Given the description of an element on the screen output the (x, y) to click on. 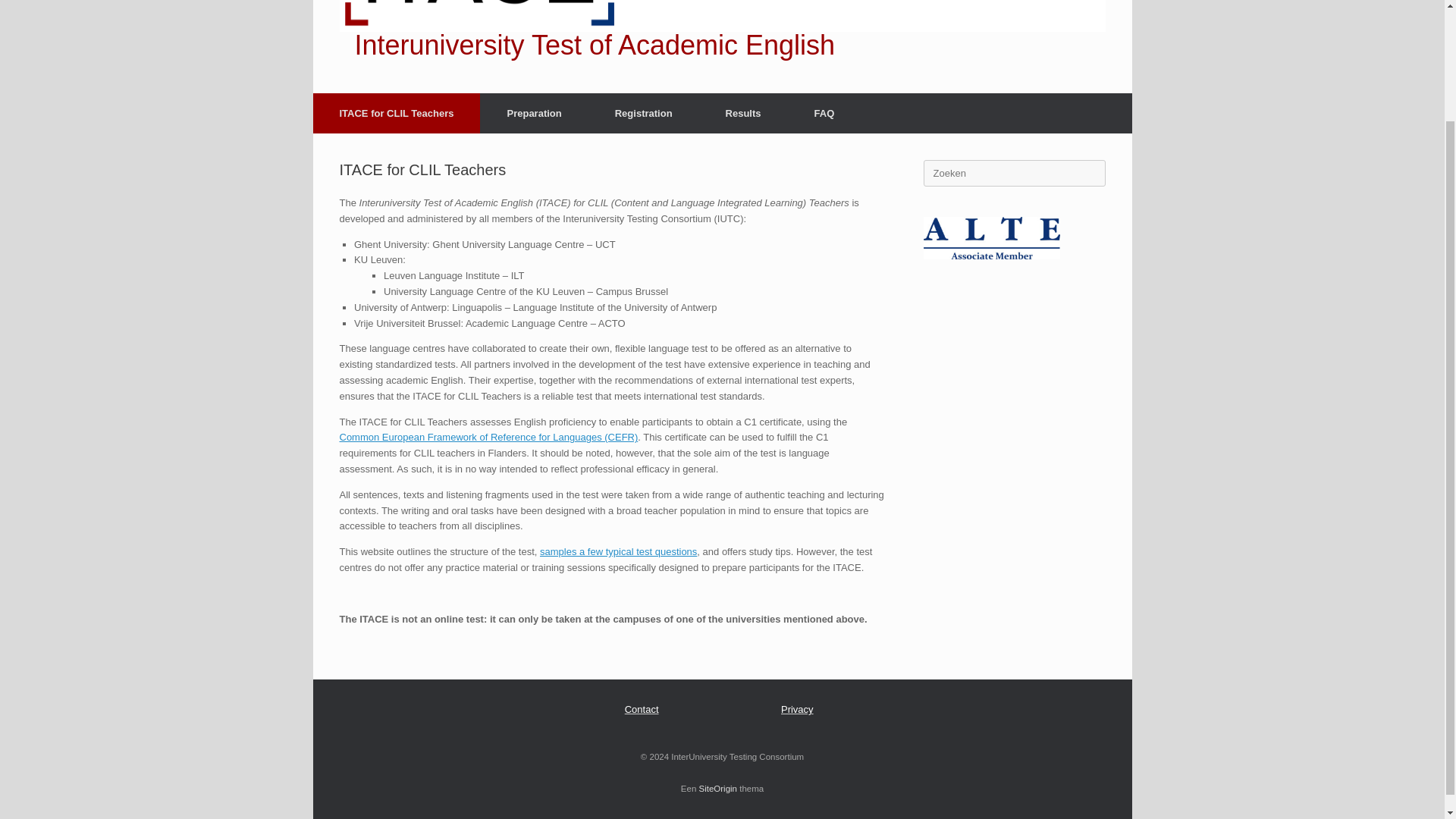
Interuniversity Test of Academic English (722, 29)
Results (742, 113)
Privacy (796, 708)
Interuniversity Test of Academic English (722, 29)
Registration (643, 113)
SiteOrigin (718, 788)
samples a few typical test questions (618, 551)
Preparation (534, 113)
ITACE for CLIL Teachers (396, 113)
FAQ (824, 113)
Contact (641, 708)
